Given the description of an element on the screen output the (x, y) to click on. 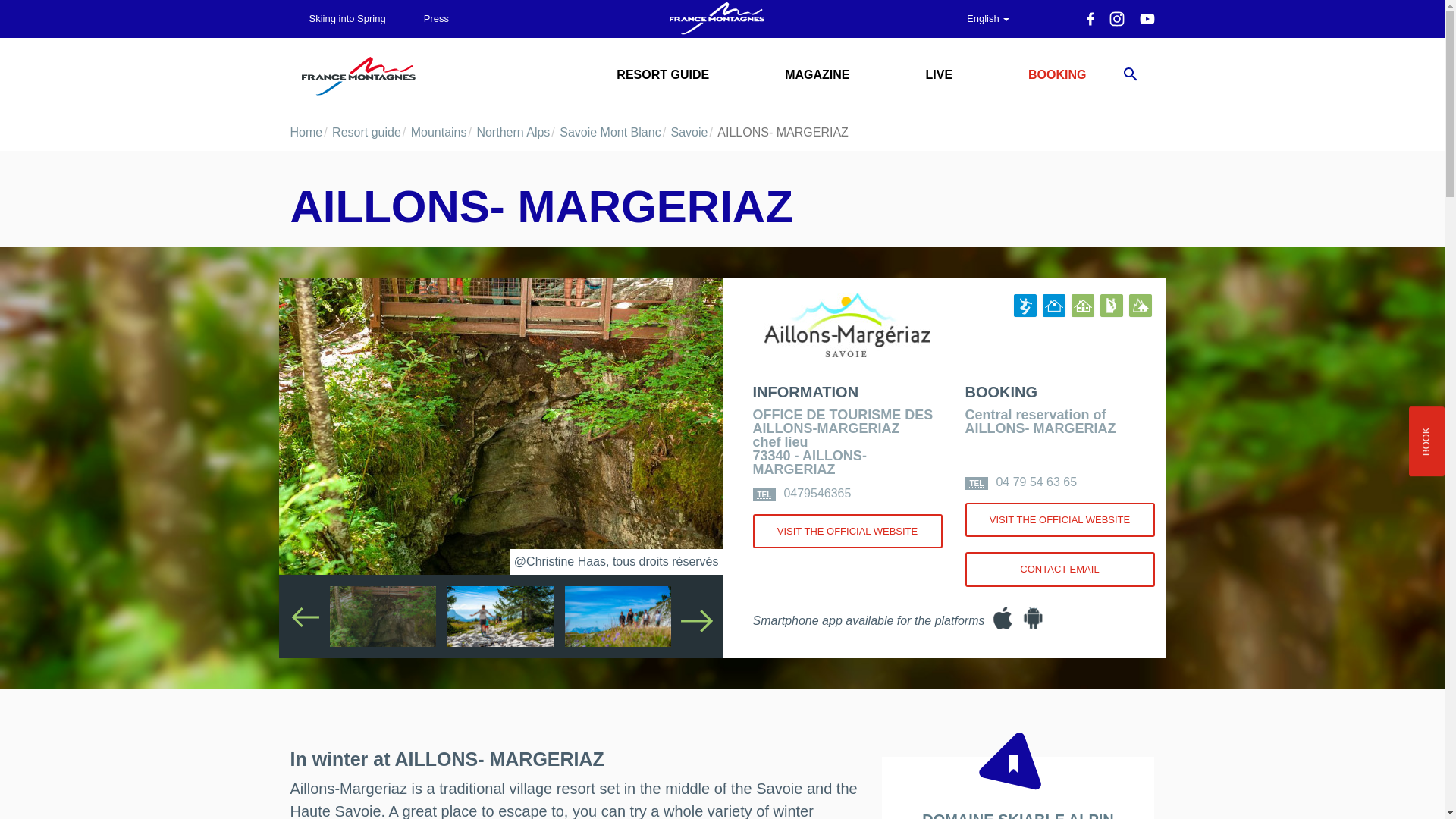
RESORT GUIDE (662, 74)
LIVE (939, 74)
Press (435, 18)
MAGAZINE (817, 74)
Skiing into Spring (346, 18)
Welcome (358, 75)
English (987, 18)
Welcome (715, 18)
